Given the description of an element on the screen output the (x, y) to click on. 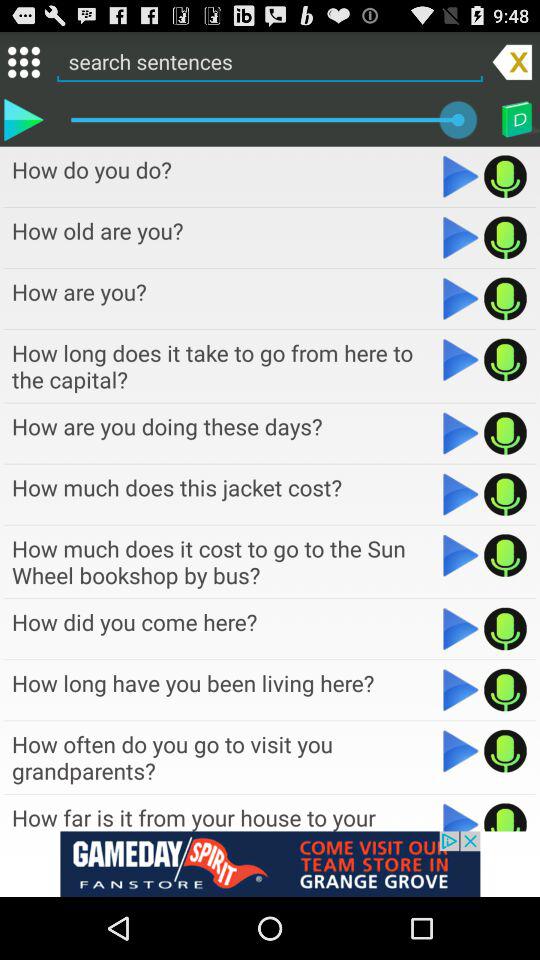
play button (460, 359)
